Given the description of an element on the screen output the (x, y) to click on. 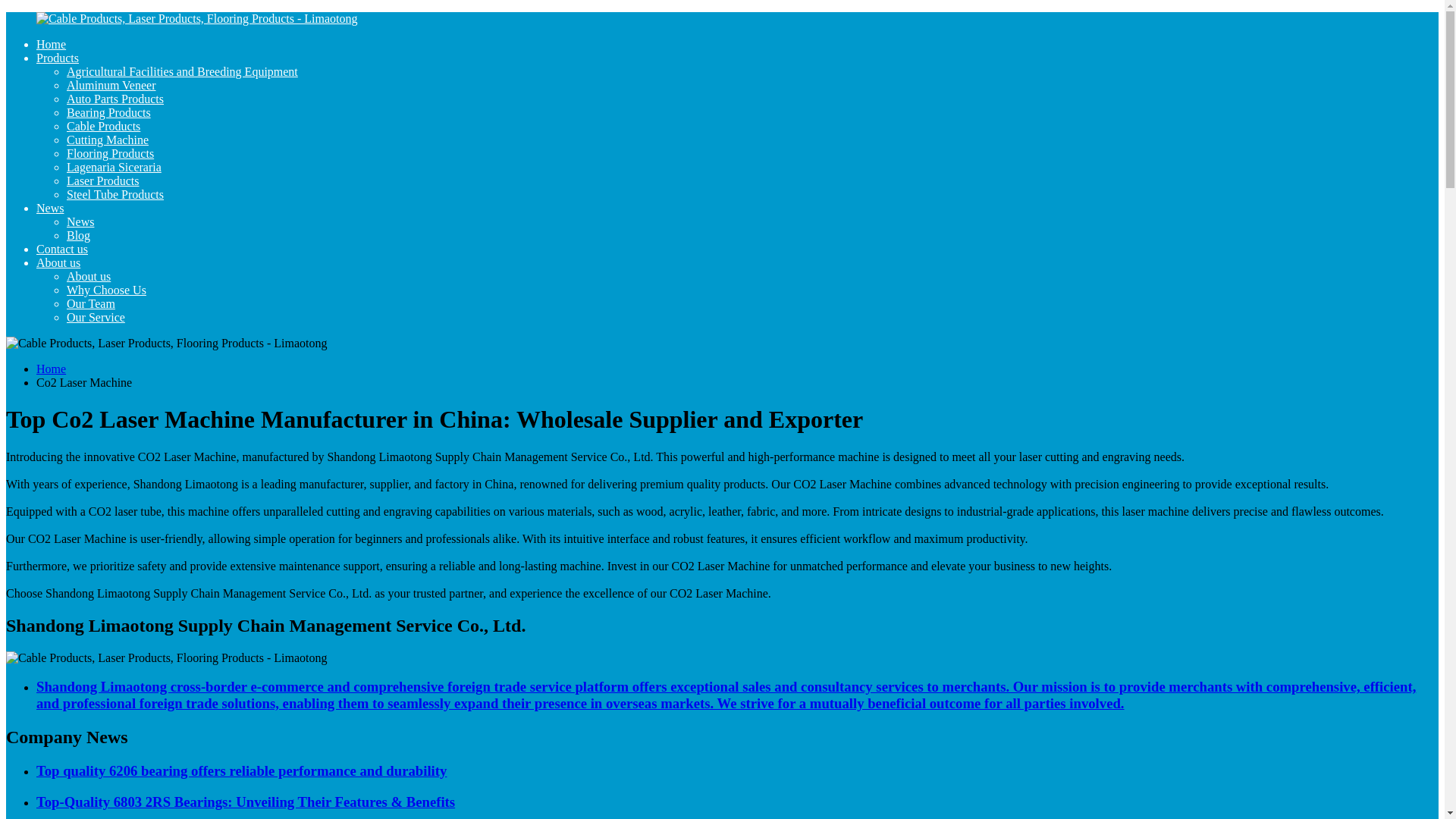
Our Service (95, 317)
Agricultural Facilities and Breeding Equipment (182, 71)
Steel Tube Products (114, 194)
Home (50, 368)
Laser Products (102, 180)
Flooring Products (110, 153)
About us (88, 276)
Cutting Machine (107, 139)
Lagenaria Siceraria (113, 166)
News (50, 207)
Cable Products (102, 125)
Products (57, 57)
Blog (78, 235)
Bearing Products (108, 112)
Auto Parts Products (114, 98)
